Given the description of an element on the screen output the (x, y) to click on. 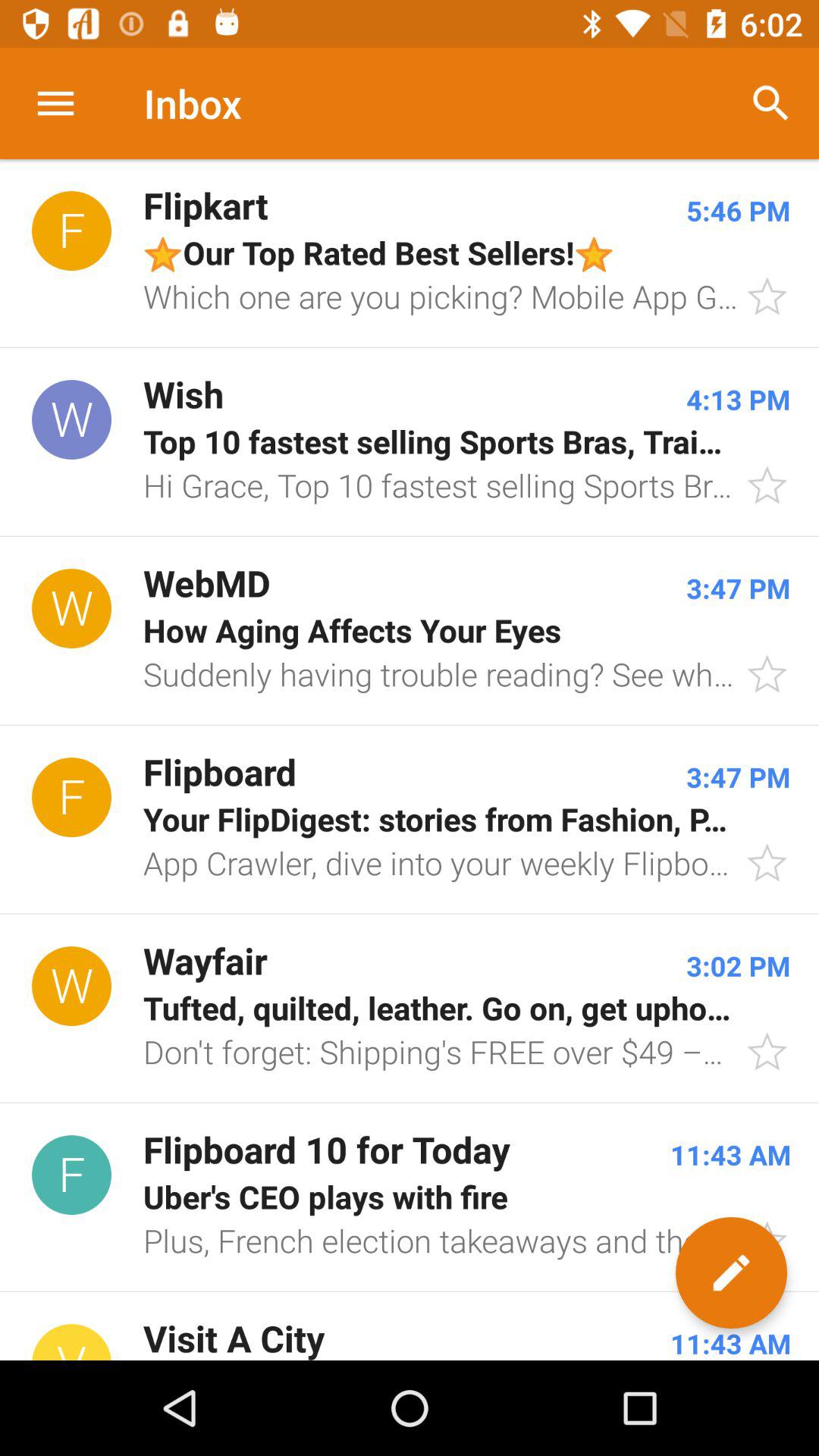
select the app next to the inbox icon (771, 103)
